Given the description of an element on the screen output the (x, y) to click on. 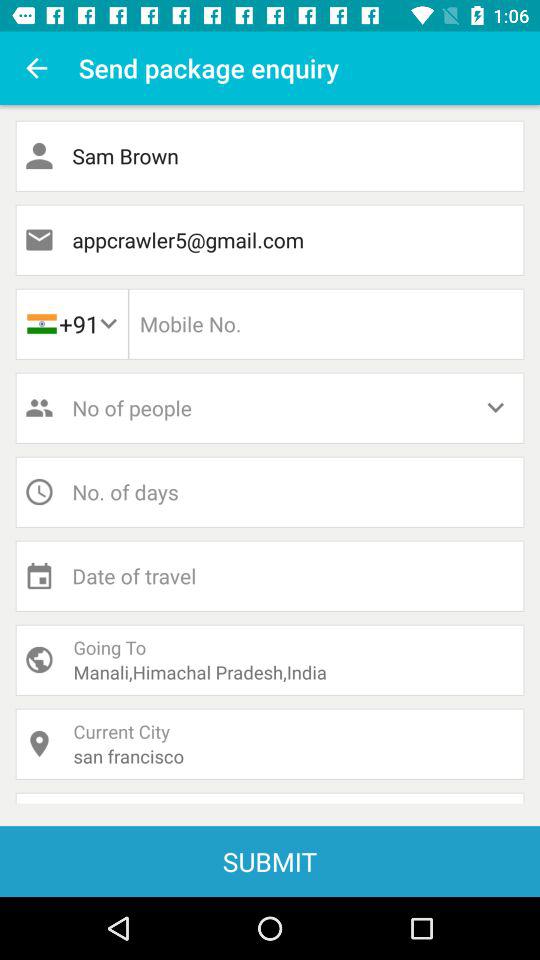
press the appcrawler5@gmail.com item (269, 239)
